Given the description of an element on the screen output the (x, y) to click on. 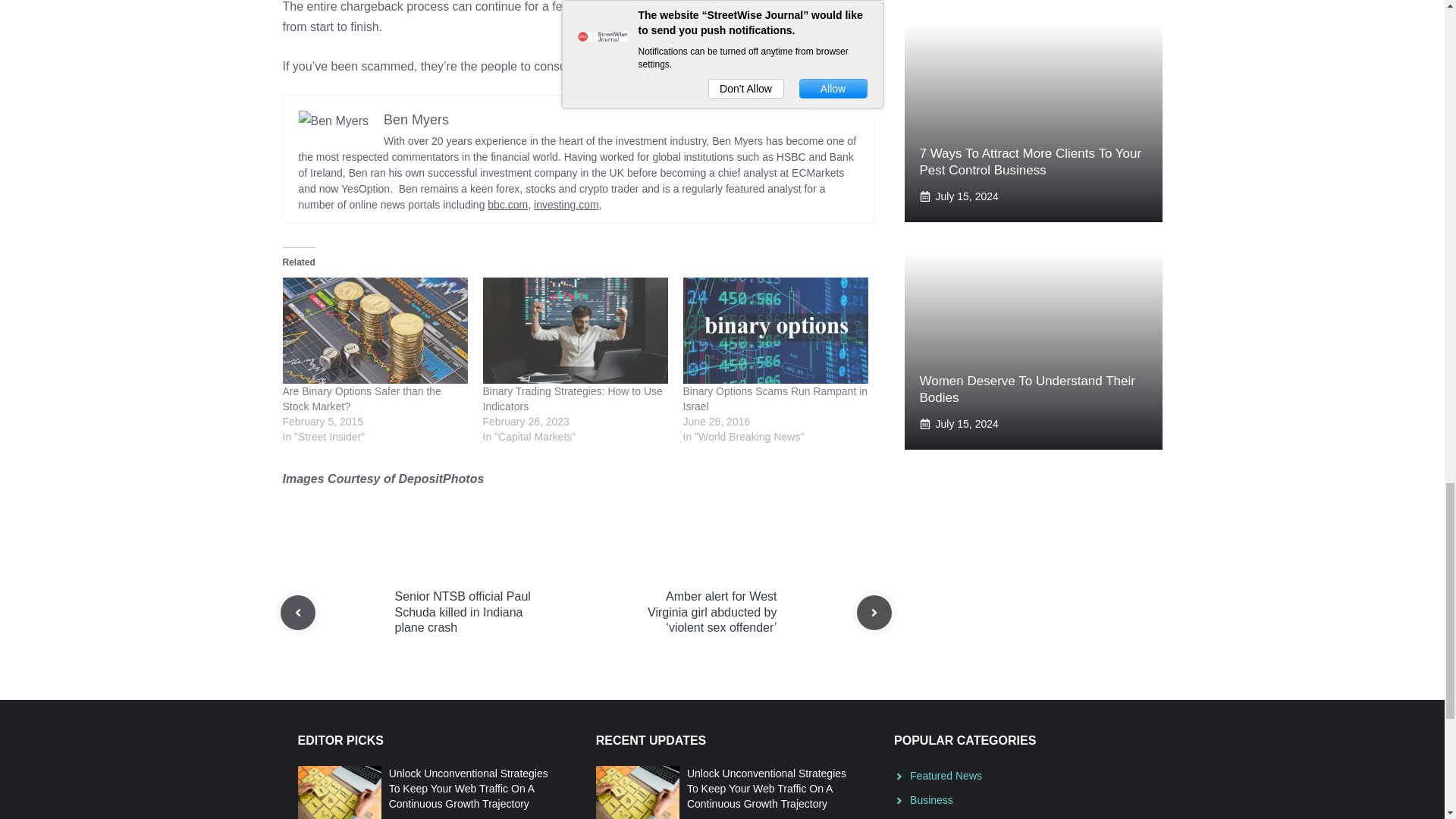
Ben Myers (416, 119)
DepositPhotos (440, 478)
bbc.com (507, 204)
Binary Options Scams Run Rampant in Israel (774, 398)
Binary Trading Strategies: How to Use Indicators (573, 330)
Binary Trading Strategies: How to Use Indicators (571, 398)
Binary Options Scams Run Rampant in Israel (774, 398)
Binary Trading Strategies: How to Use Indicators (571, 398)
investing.com (566, 204)
Binary Options Scams Run Rampant in Israel (774, 330)
Are Binary Options Safer than the Stock Market? (374, 330)
Are Binary Options Safer than the Stock Market? (361, 398)
Are Binary Options Safer than the Stock Market? (361, 398)
